Given the description of an element on the screen output the (x, y) to click on. 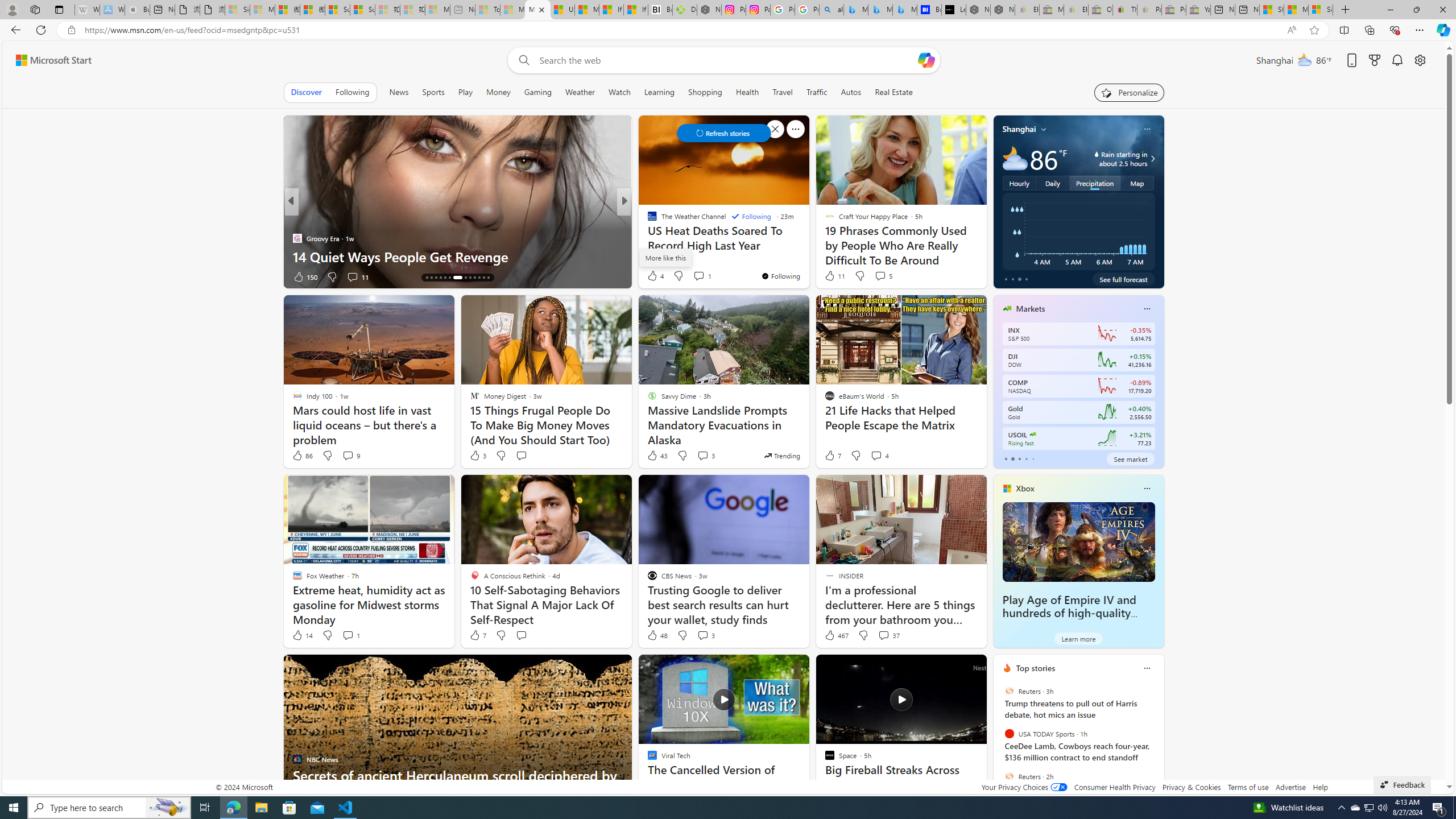
Descarga Driver Updater (684, 9)
View comments 13 Comment (6, 276)
View comments 53 Comment (703, 276)
Help (1320, 786)
Gaming (537, 92)
Add this page to favorites (Ctrl+D) (1314, 29)
4 AM 5 AM 6 AM 7 AM (1077, 231)
AutomationID: tab-22 (470, 277)
Skip to content (49, 59)
AutomationID: tab-16 (435, 277)
Following (352, 92)
43 Like (657, 455)
7 Like (477, 634)
115 Like (654, 276)
AutomationID: tab-23 (474, 277)
